Given the description of an element on the screen output the (x, y) to click on. 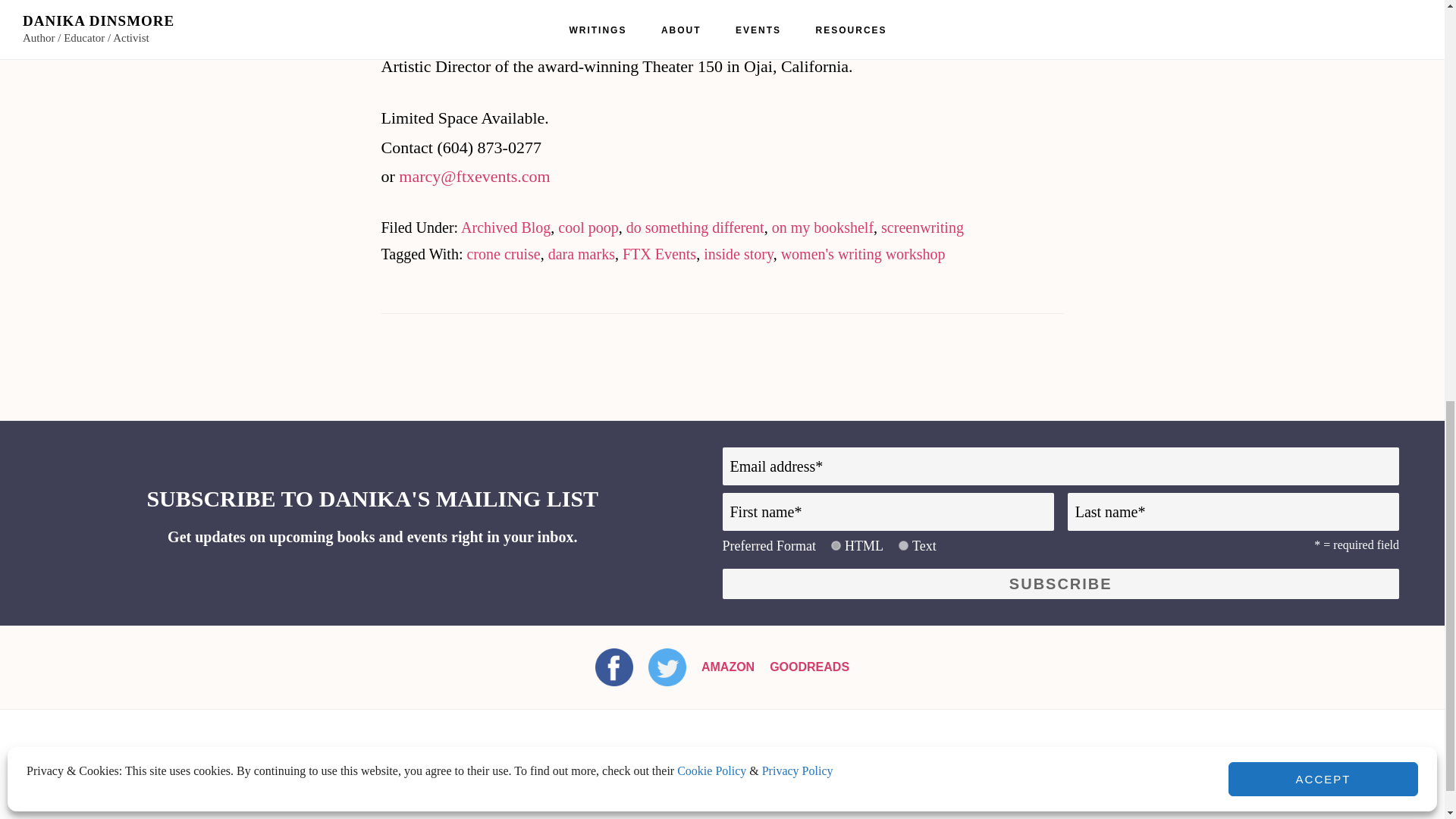
Subscribe (1060, 583)
text (903, 545)
html (836, 545)
